Given the description of an element on the screen output the (x, y) to click on. 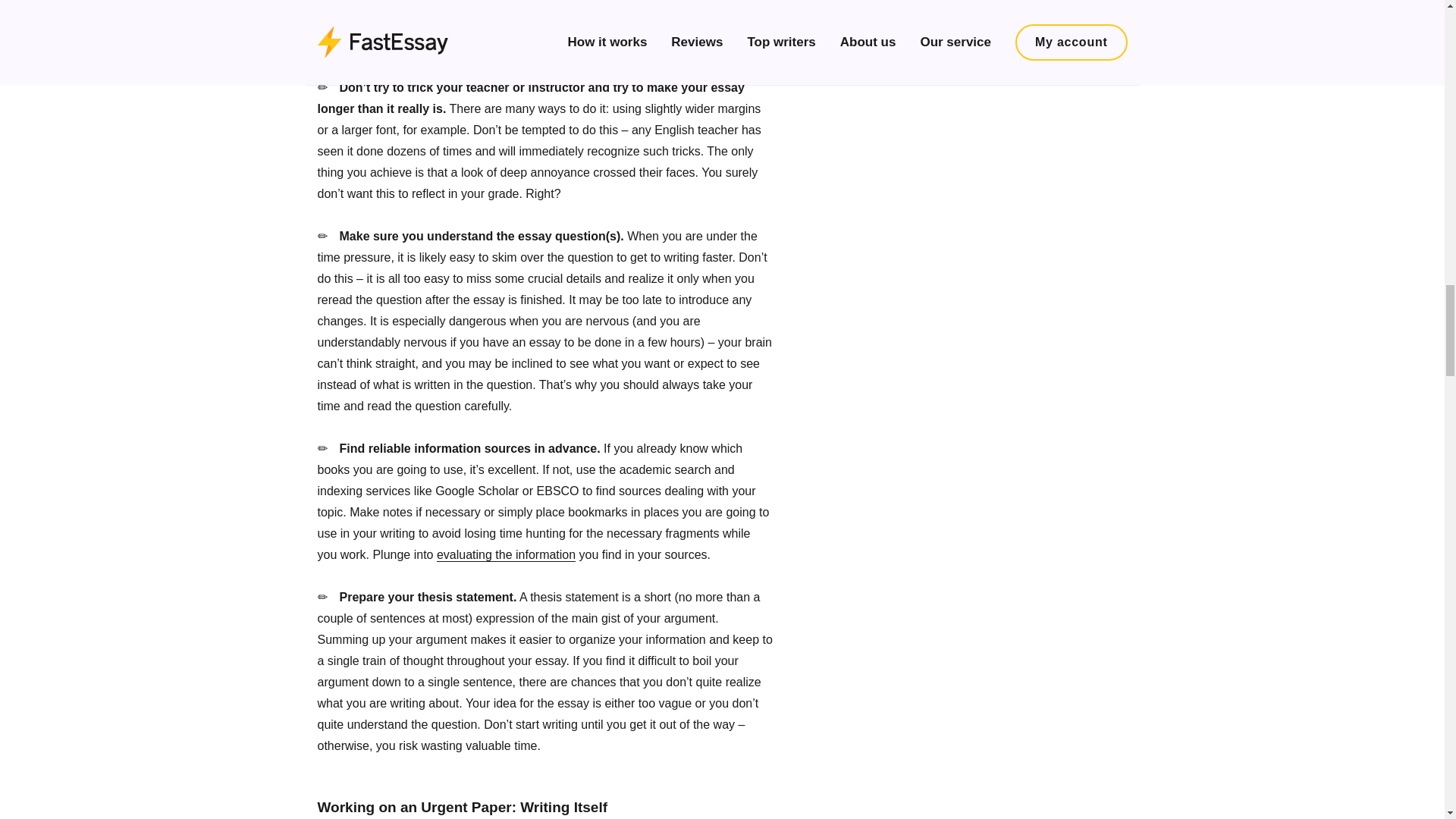
evaluating the information (505, 554)
